Given the description of an element on the screen output the (x, y) to click on. 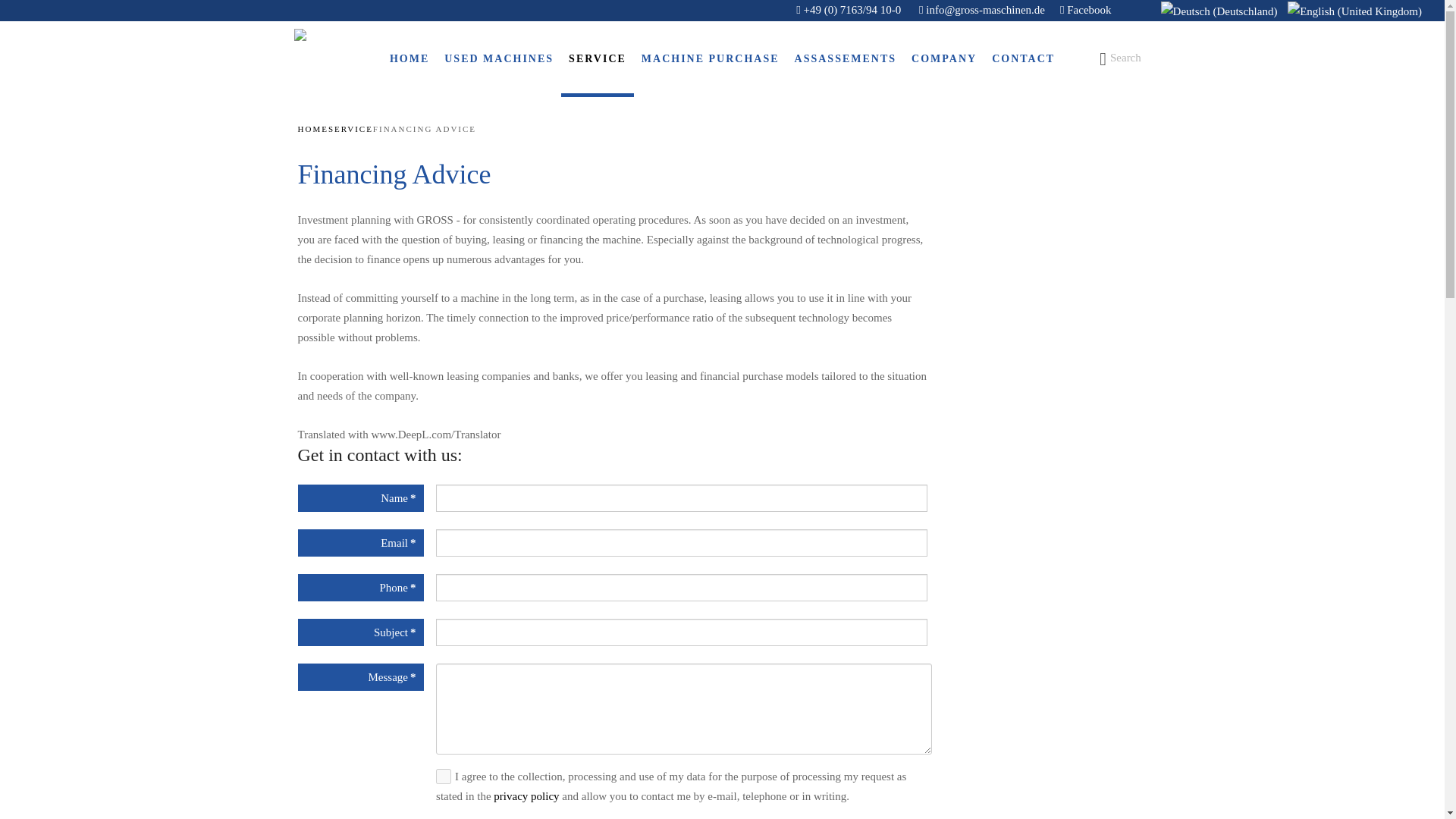
CONTACT (1023, 59)
SERVICE (596, 59)
USED MACHINES (498, 59)
MACHINE PURCHASE (710, 59)
ASSASSEMENTS (845, 59)
HOME (312, 128)
Facebook (1085, 9)
facebook (1085, 9)
privacy policy (526, 796)
SERVICE (350, 128)
